Given the description of an element on the screen output the (x, y) to click on. 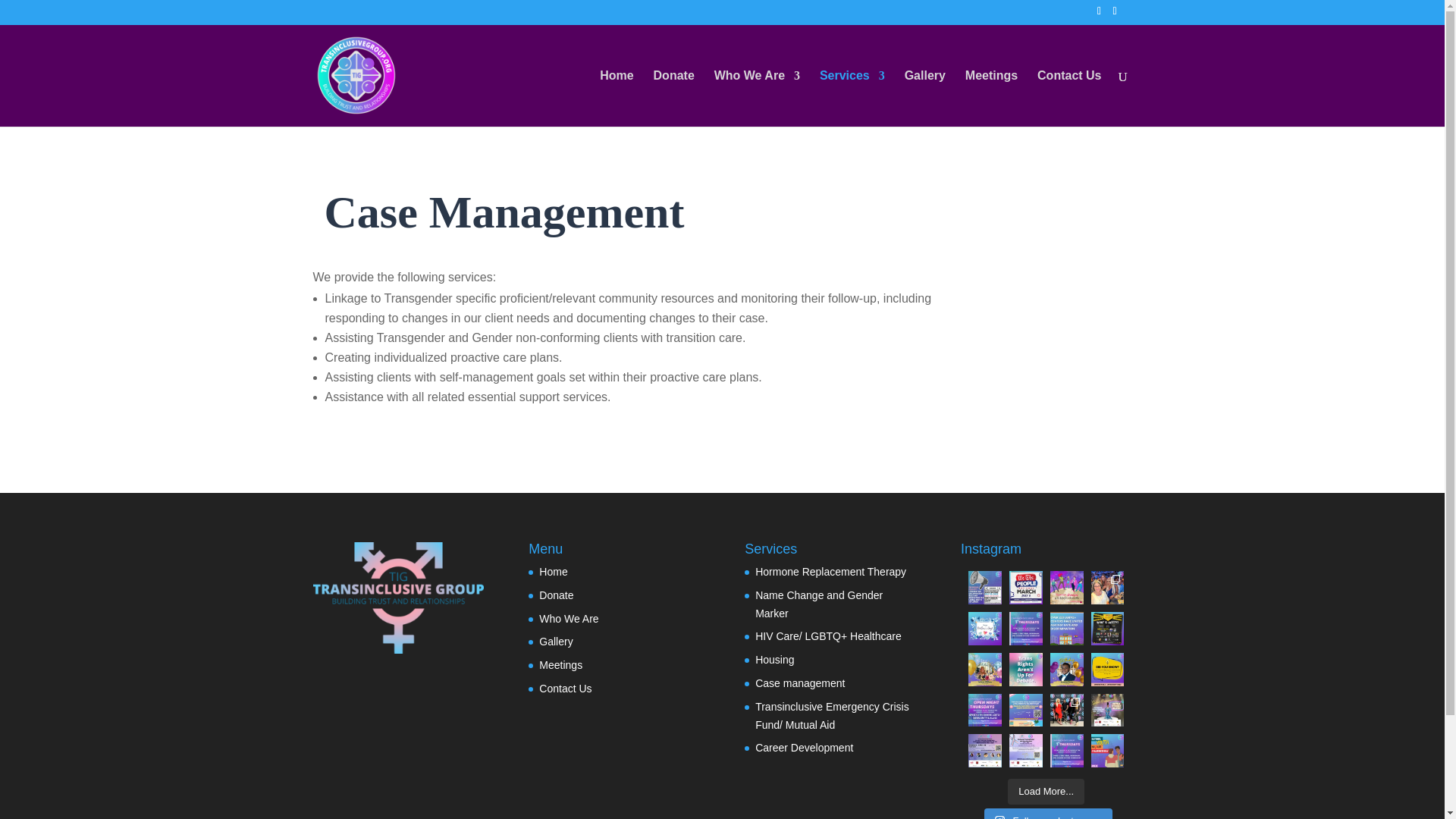
Meetings (991, 97)
Donate (555, 594)
Gallery (924, 97)
Contact Us (1068, 97)
Donate (673, 97)
Who We Are (756, 97)
Home (552, 571)
Who We Are (568, 618)
Home (616, 97)
Services (852, 97)
